Given the description of an element on the screen output the (x, y) to click on. 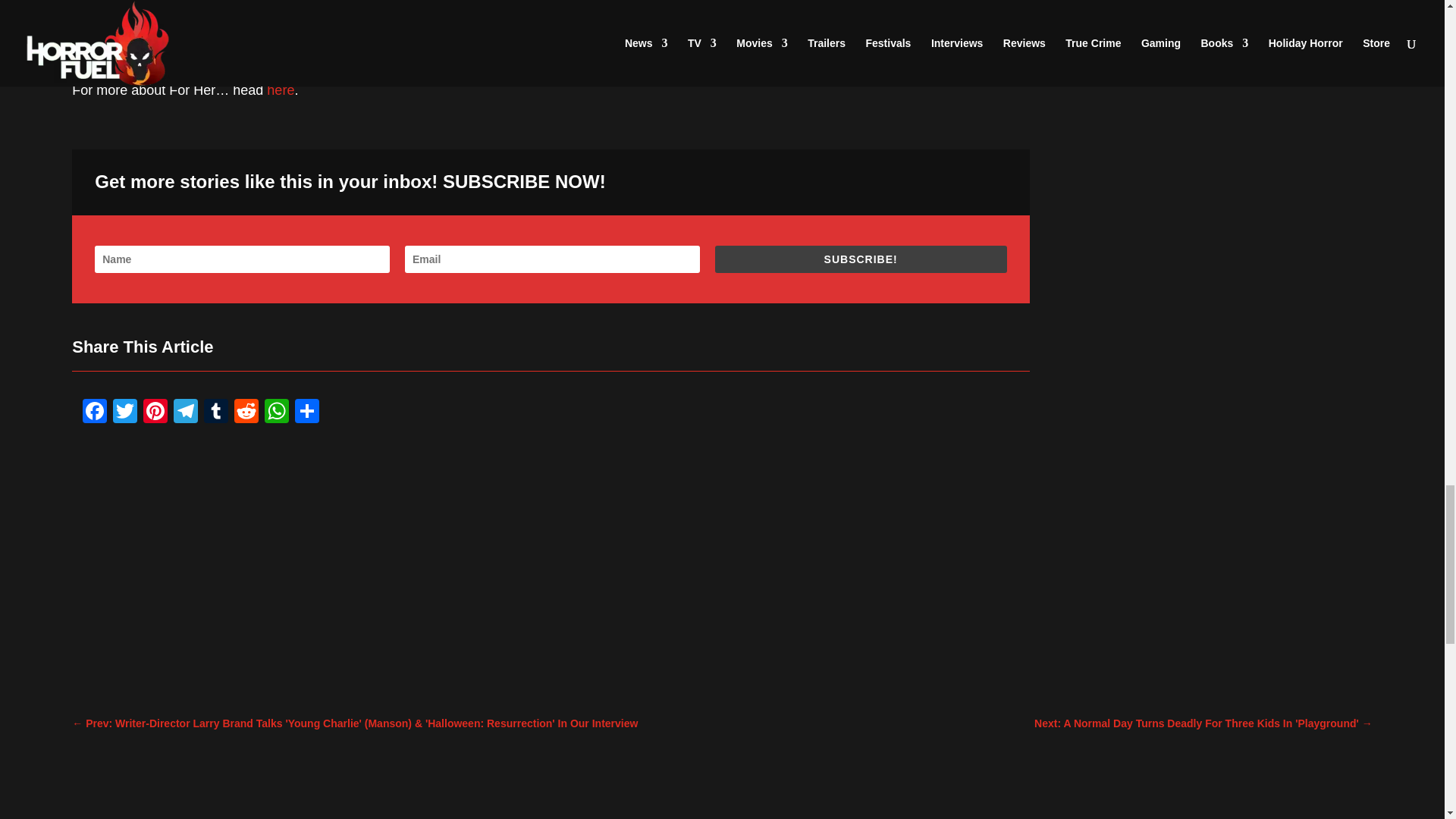
Facebook (95, 413)
Twitter (124, 413)
YouTube player (550, 14)
